Given the description of an element on the screen output the (x, y) to click on. 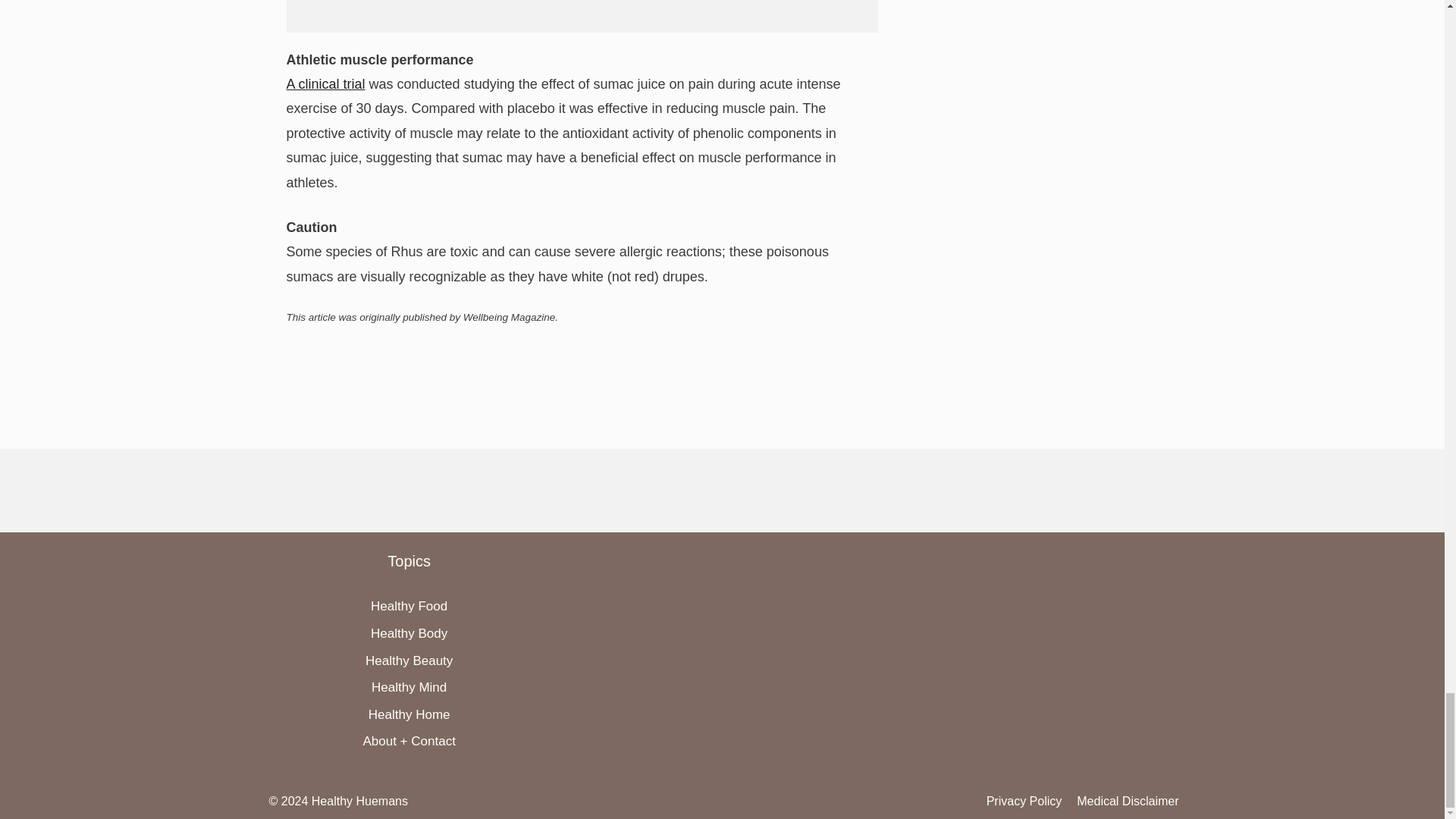
A clinical trial (325, 83)
Healthy Home (408, 714)
Healthy Body (408, 633)
Medical Disclaimer (1127, 800)
Healthy Mind (408, 687)
Healthy Beauty (408, 660)
Privacy Policy (1024, 800)
Healthy Food (408, 605)
